Given the description of an element on the screen output the (x, y) to click on. 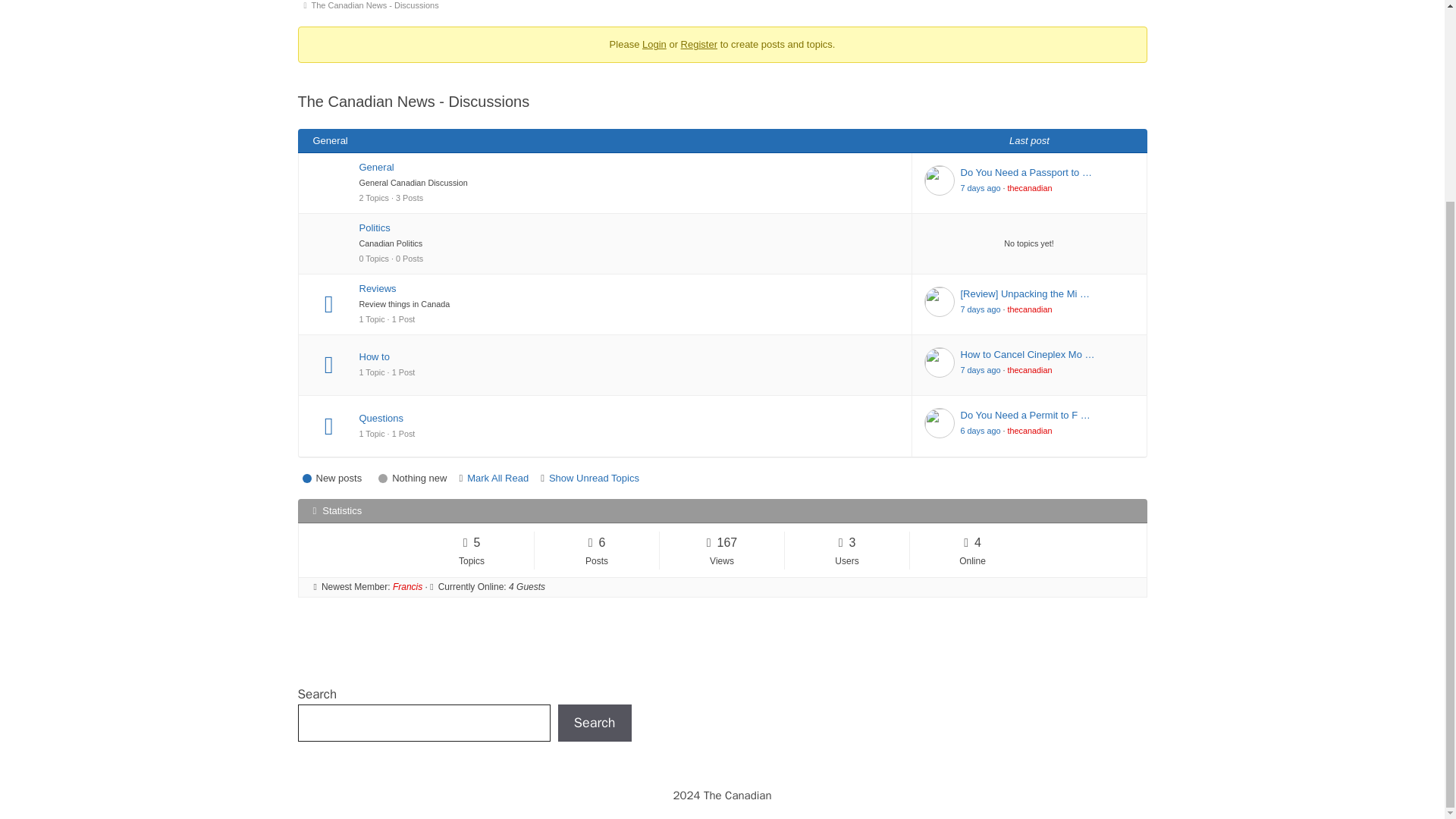
How to (629, 356)
The Canadian News - Discussions (377, 7)
The Canadian News - Discussions (377, 7)
General (629, 167)
Login (654, 43)
Politics (629, 227)
thecanadian (1029, 308)
7 days ago (979, 308)
Reviews (629, 288)
thecanadian (1029, 187)
7 days ago (979, 187)
Register (699, 43)
